Given the description of an element on the screen output the (x, y) to click on. 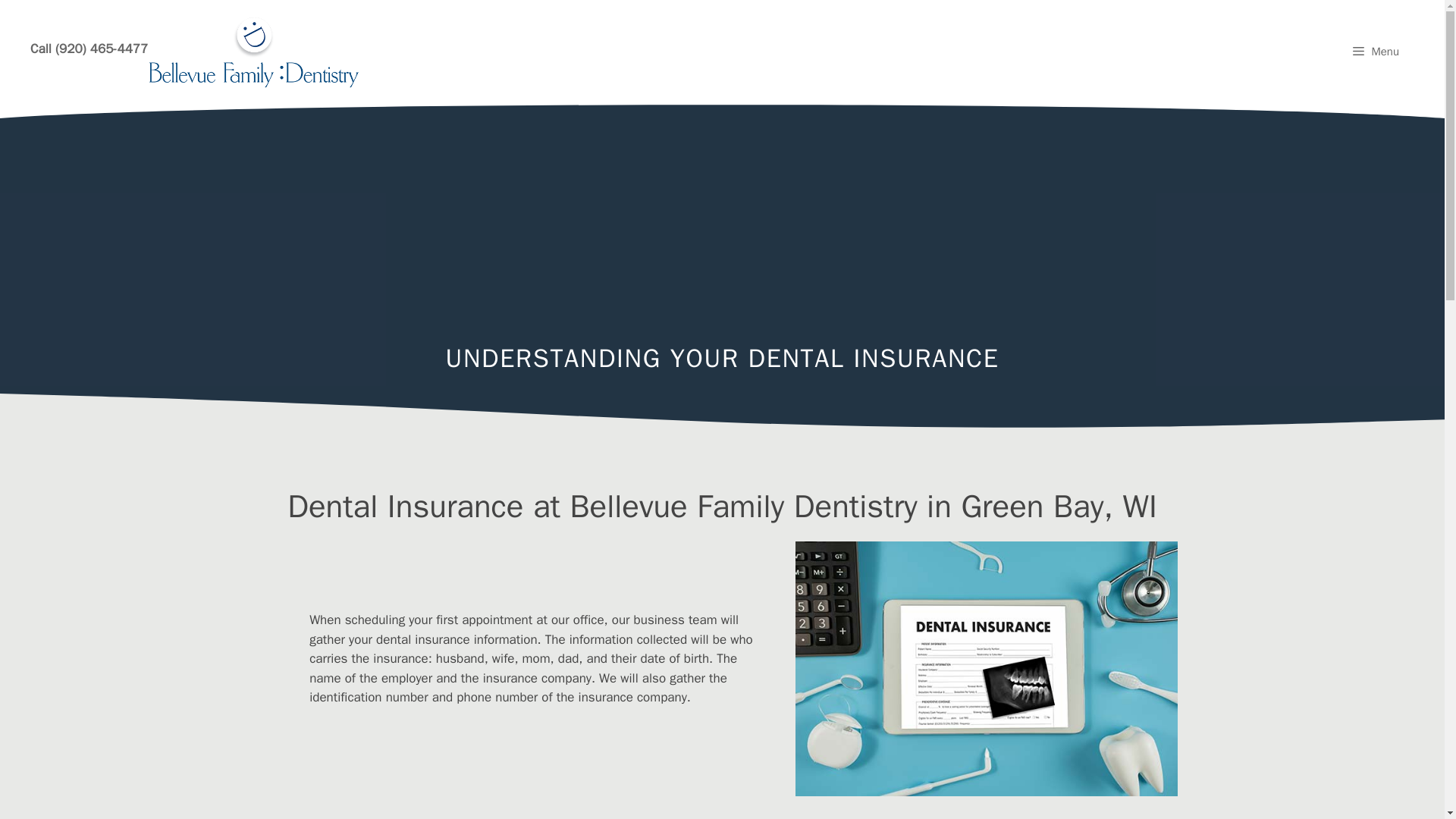
Menu (1375, 51)
